Given the description of an element on the screen output the (x, y) to click on. 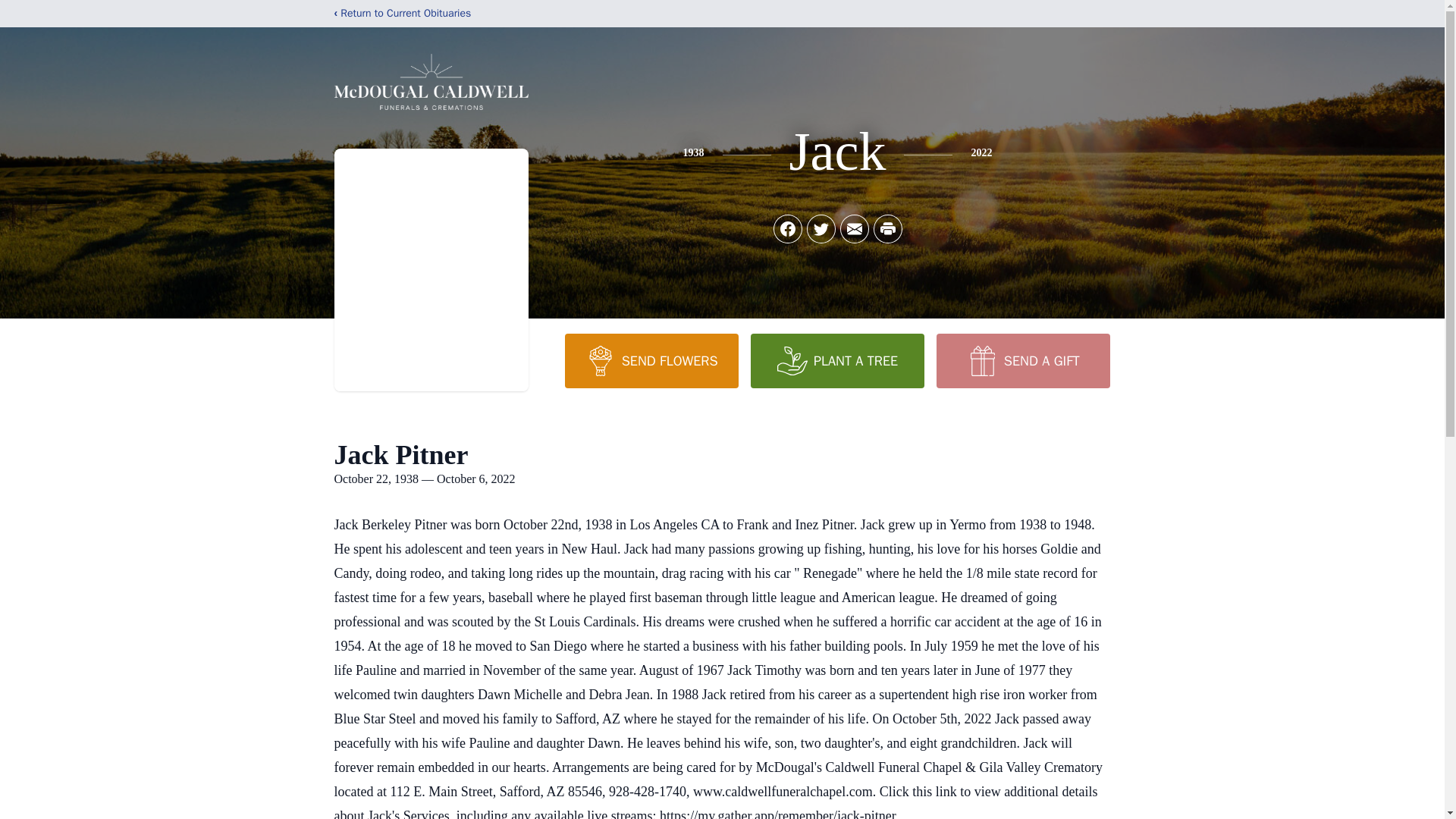
PLANT A TREE (837, 360)
SEND FLOWERS (651, 360)
SEND A GIFT (1022, 360)
